Given the description of an element on the screen output the (x, y) to click on. 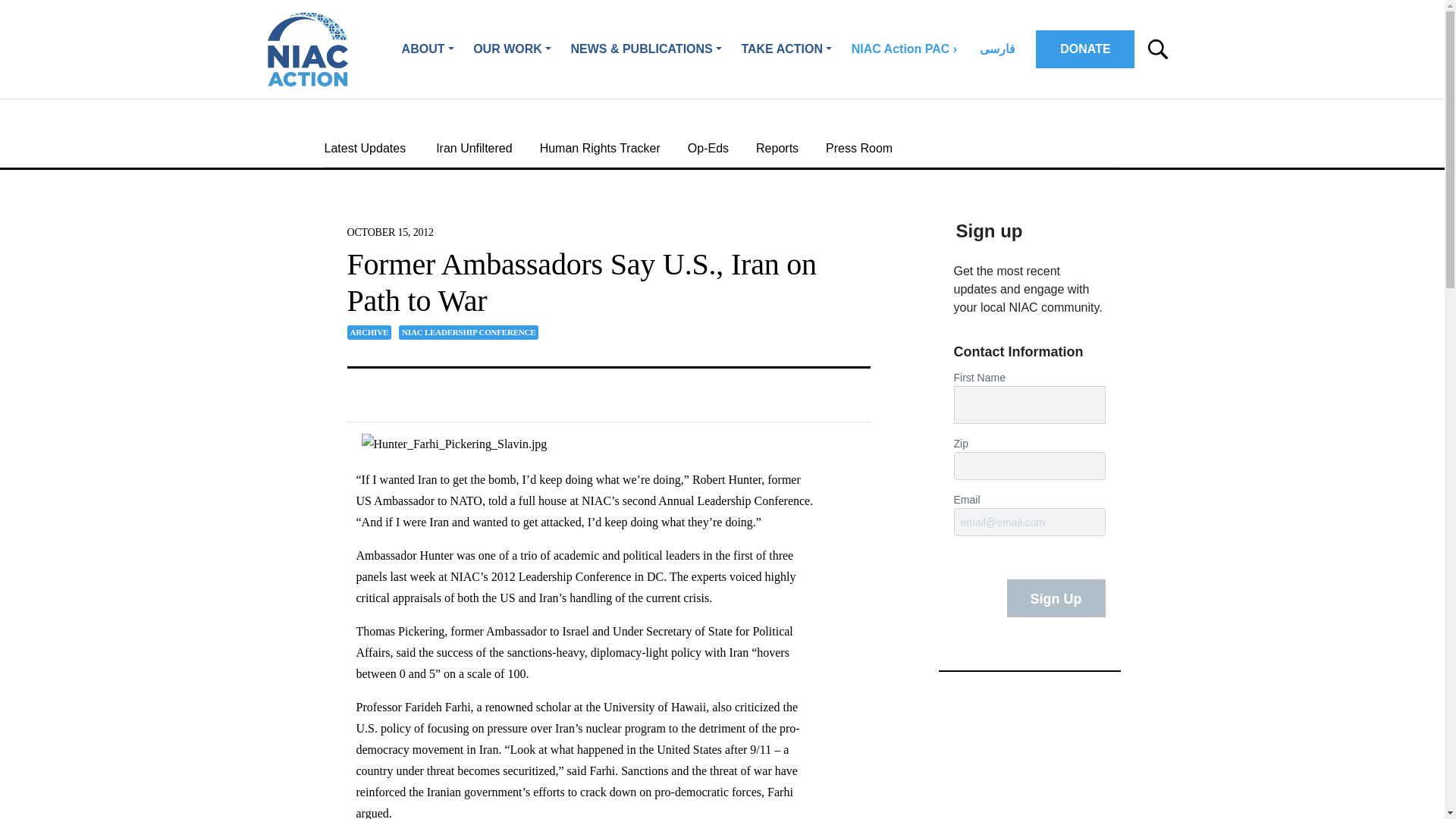
Sign Up (1056, 598)
TAKE ACTION (786, 49)
ABOUT (427, 49)
OUR WORK (511, 49)
